Given the description of an element on the screen output the (x, y) to click on. 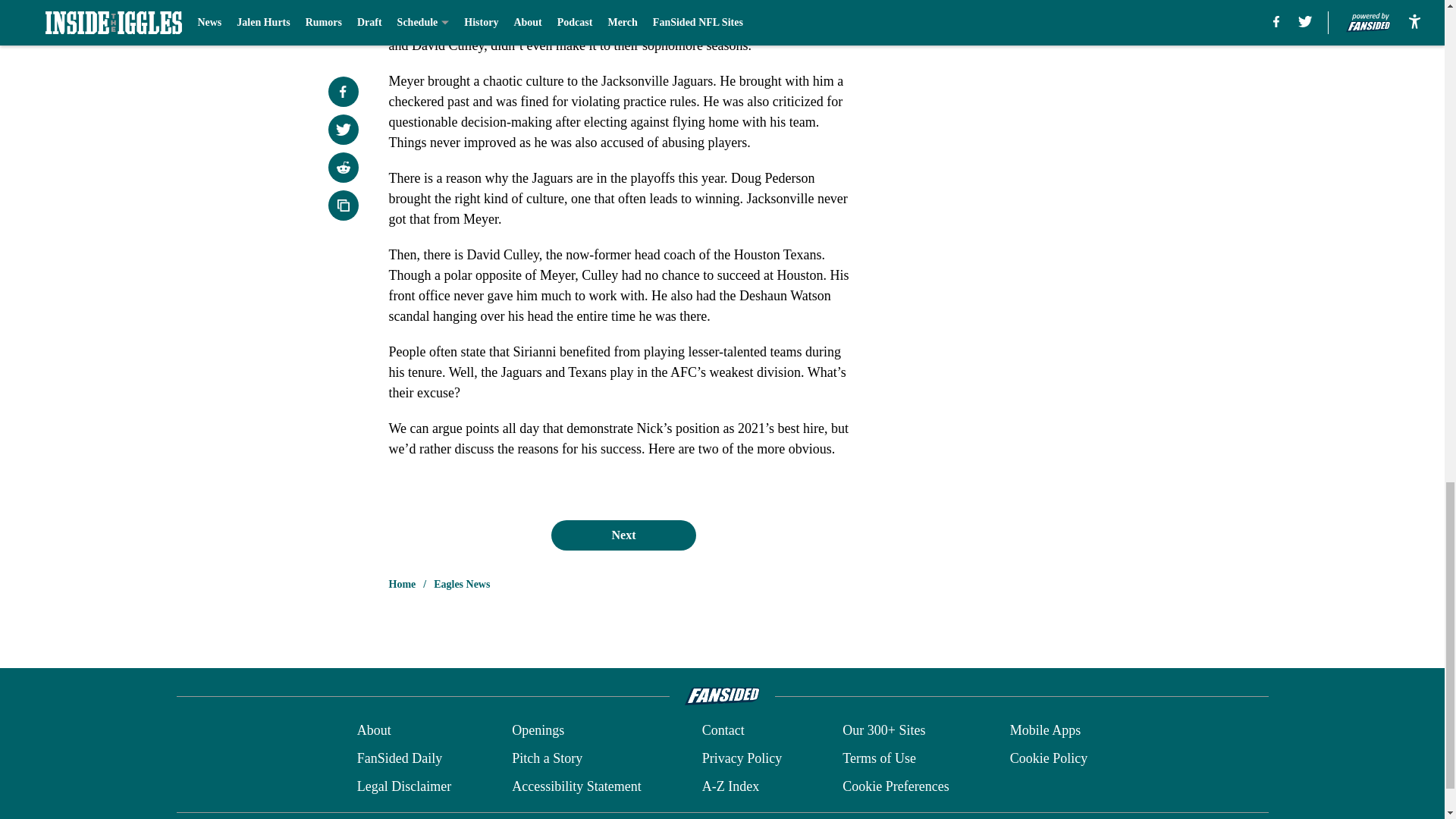
Next (622, 535)
Eagles News (461, 584)
Mobile Apps (1045, 730)
Home (401, 584)
Openings (538, 730)
FanSided Daily (399, 758)
About (373, 730)
Contact (722, 730)
